Given the description of an element on the screen output the (x, y) to click on. 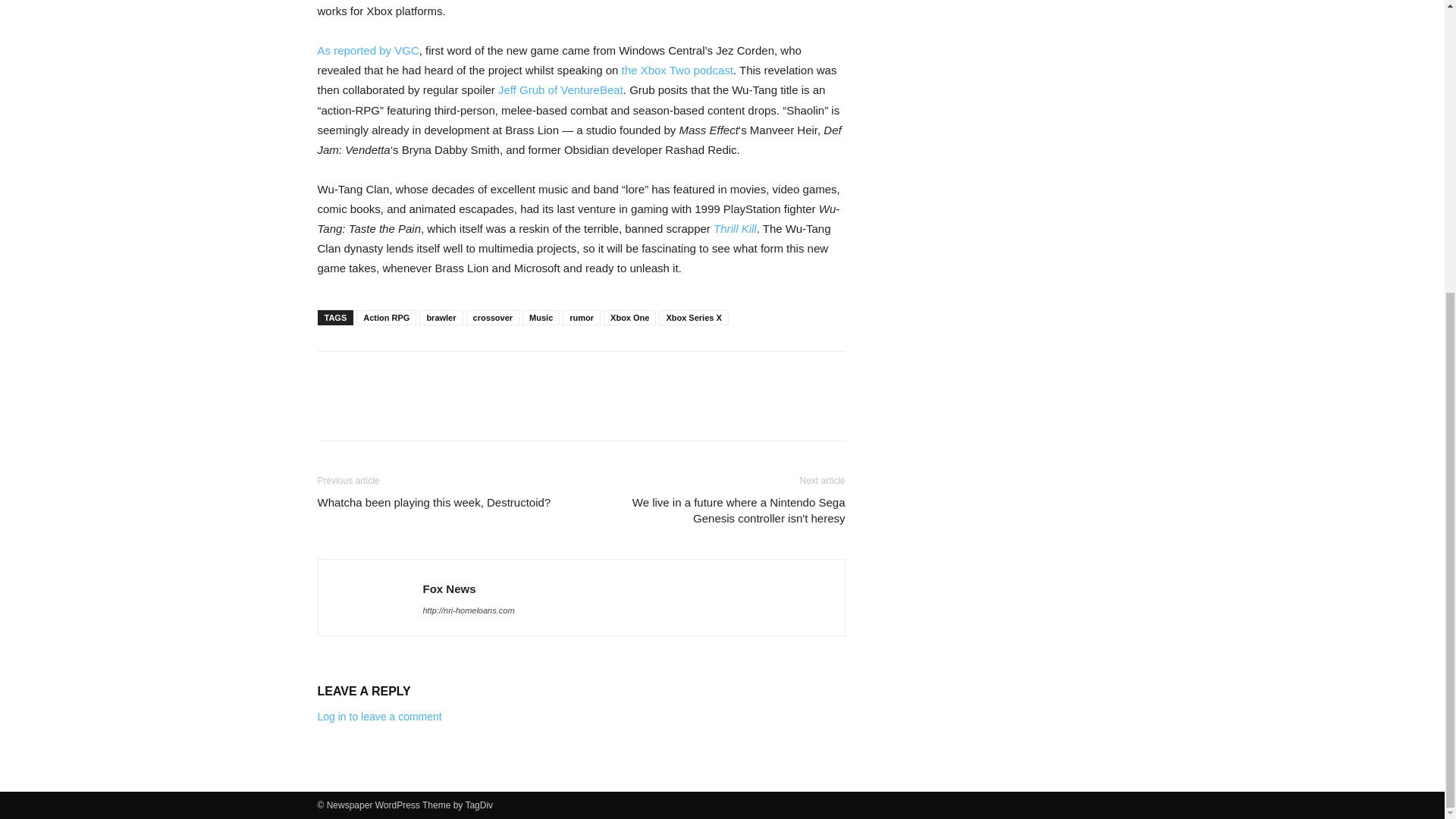
rumor (580, 317)
bottomFacebookLike (430, 375)
brawler (441, 317)
Thrill Kill (735, 228)
Xbox Series X (693, 317)
As reported by VGC (368, 50)
Music (540, 317)
Jeff Grub of VentureBeat (560, 89)
Action RPG (386, 317)
the Xbox Two podcast (677, 69)
